Given the description of an element on the screen output the (x, y) to click on. 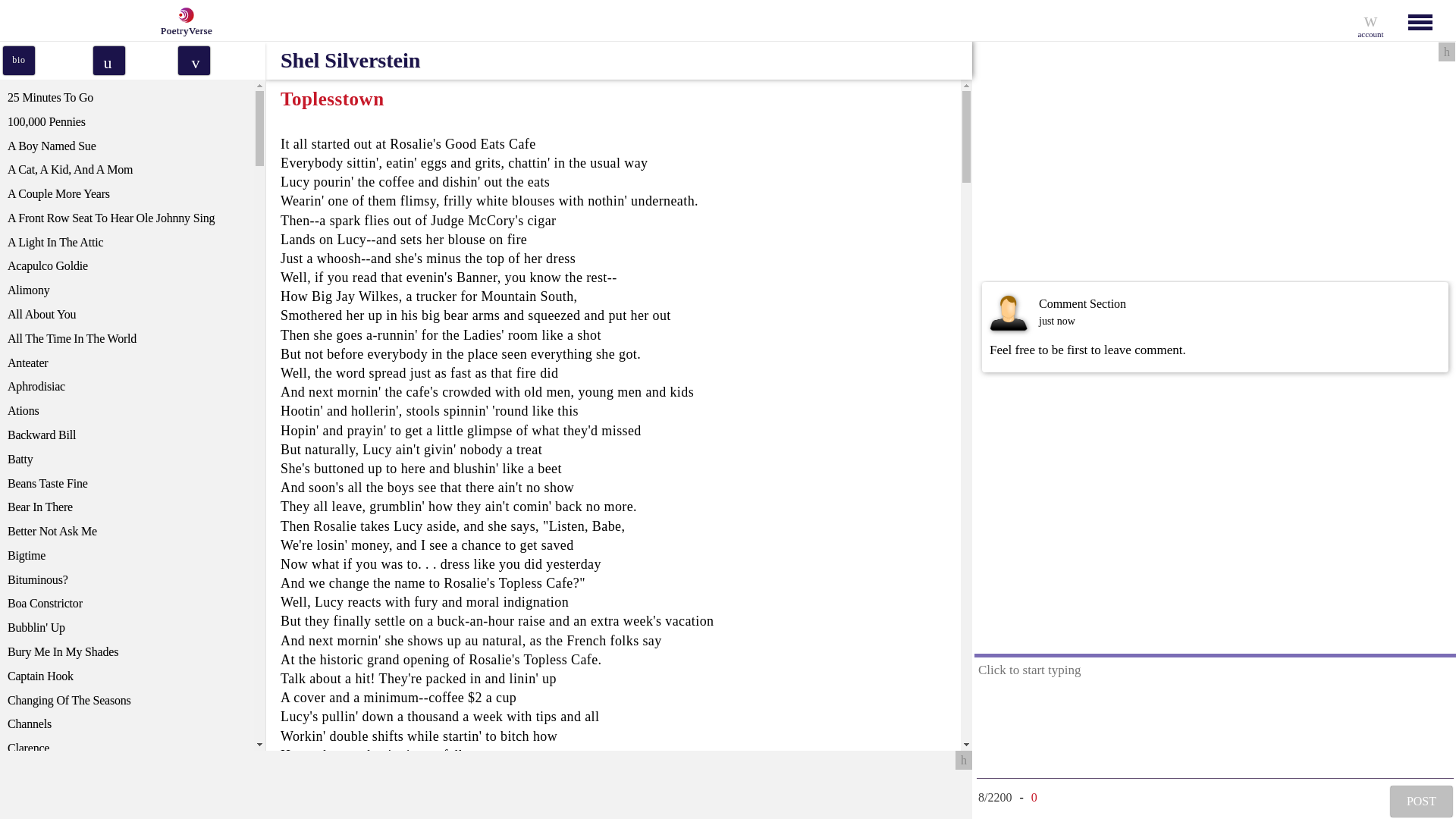
Poetry Verse Logo (183, 15)
PoetryVerse (182, 20)
user widget button (1370, 20)
